Given the description of an element on the screen output the (x, y) to click on. 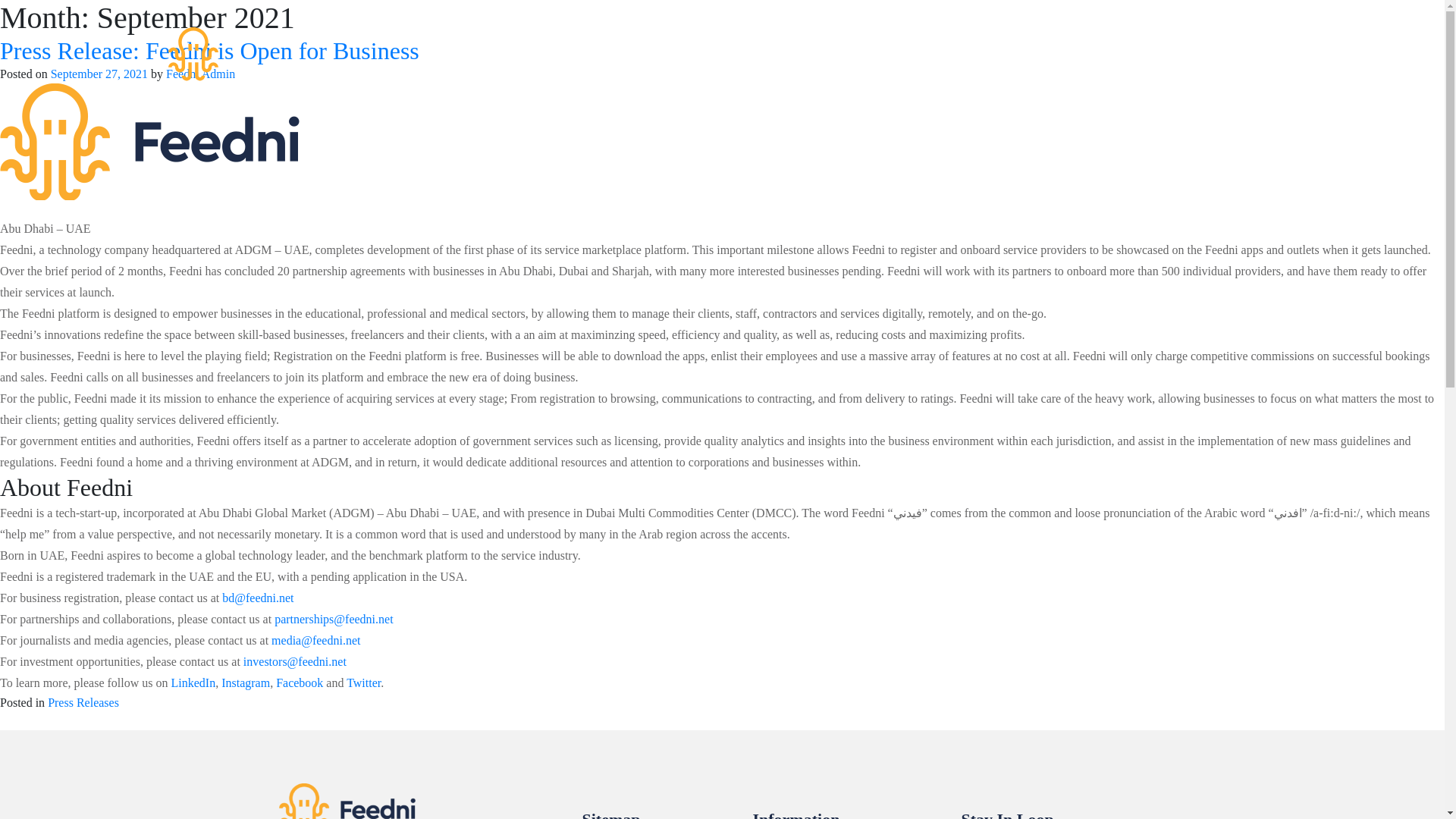
LinkedIn (192, 682)
September 27, 2021 (99, 73)
Press Releases (83, 702)
Press Release: Feedni is Open for Business (209, 50)
Features (714, 64)
Download (802, 64)
Facebook (299, 682)
Twitter (363, 682)
Feedni Admin (199, 73)
Contact (947, 64)
Instagram (245, 682)
